Given the description of an element on the screen output the (x, y) to click on. 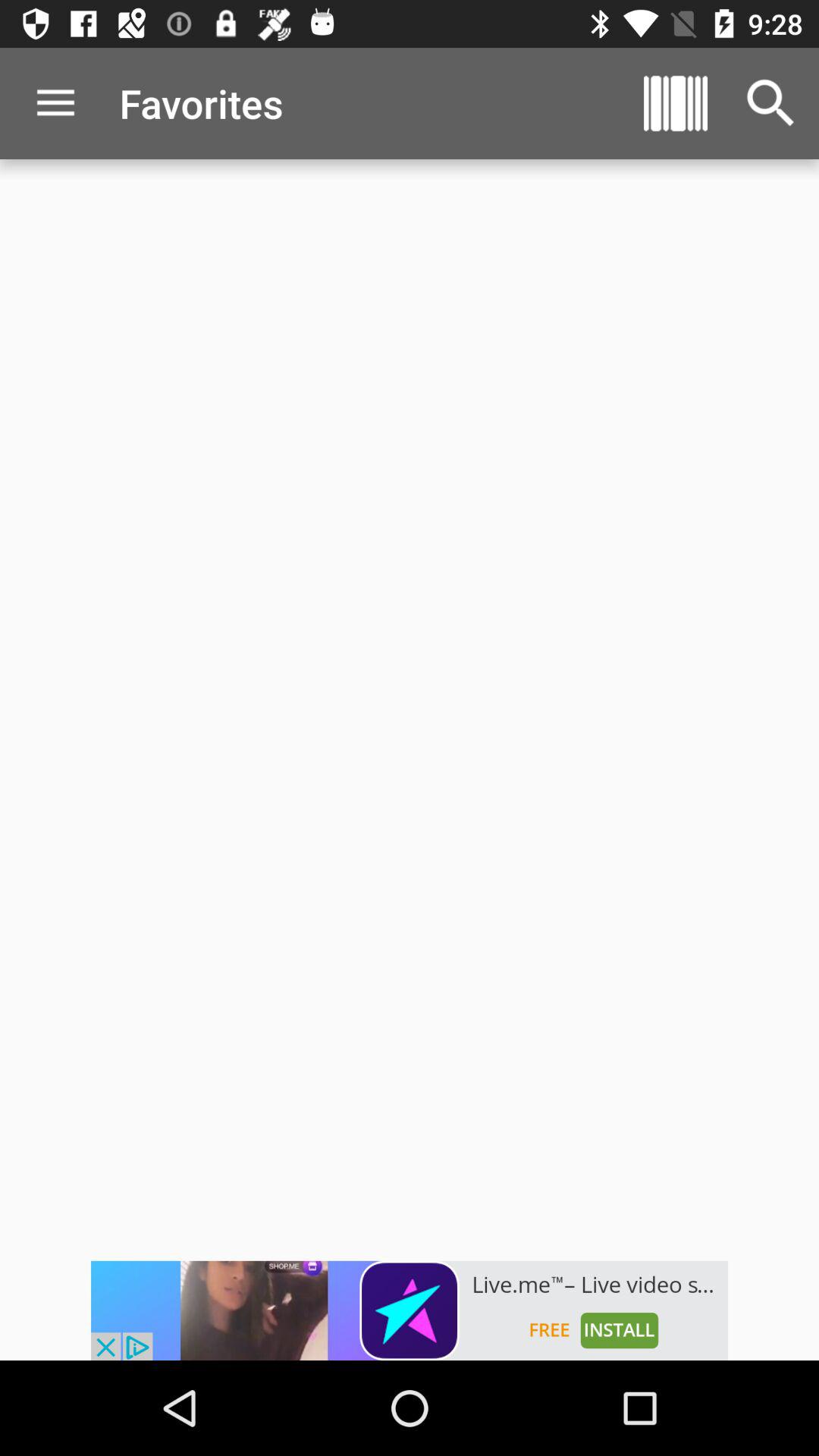
visit sponsor advertisement (409, 1310)
